Given the description of an element on the screen output the (x, y) to click on. 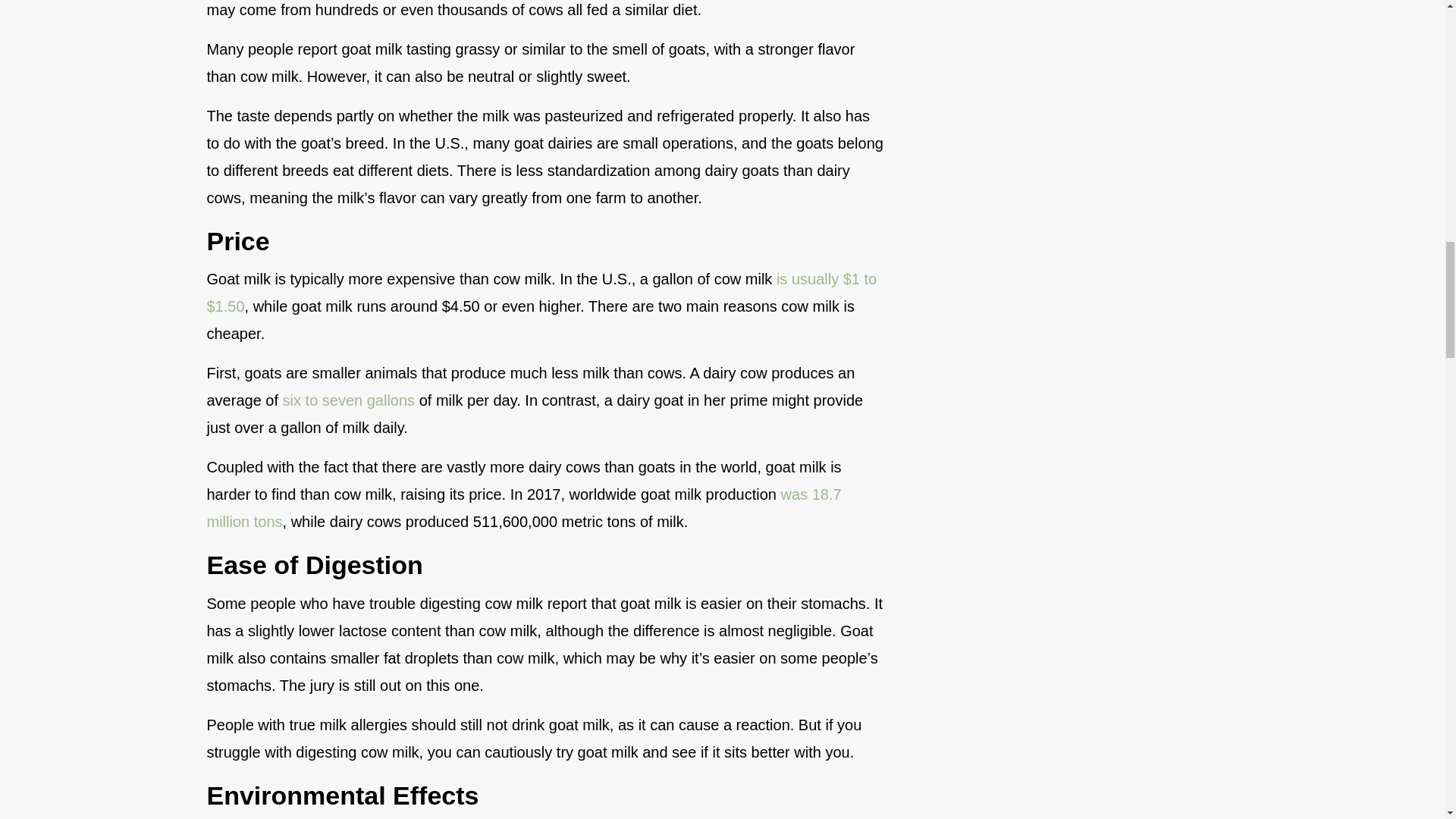
was 18.7 million tons (523, 507)
six to seven gallons (348, 400)
